Given the description of an element on the screen output the (x, y) to click on. 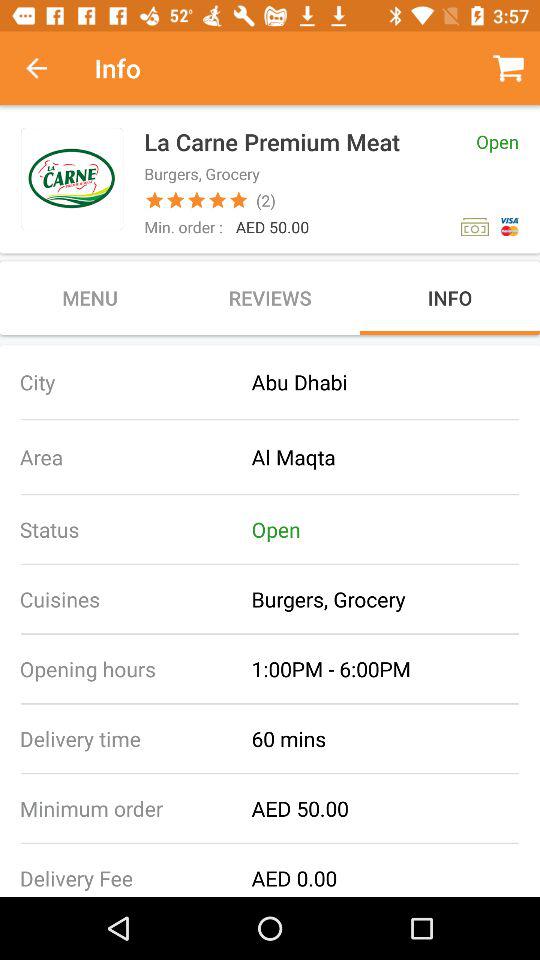
turn off item to the left of the info item (47, 68)
